Given the description of an element on the screen output the (x, y) to click on. 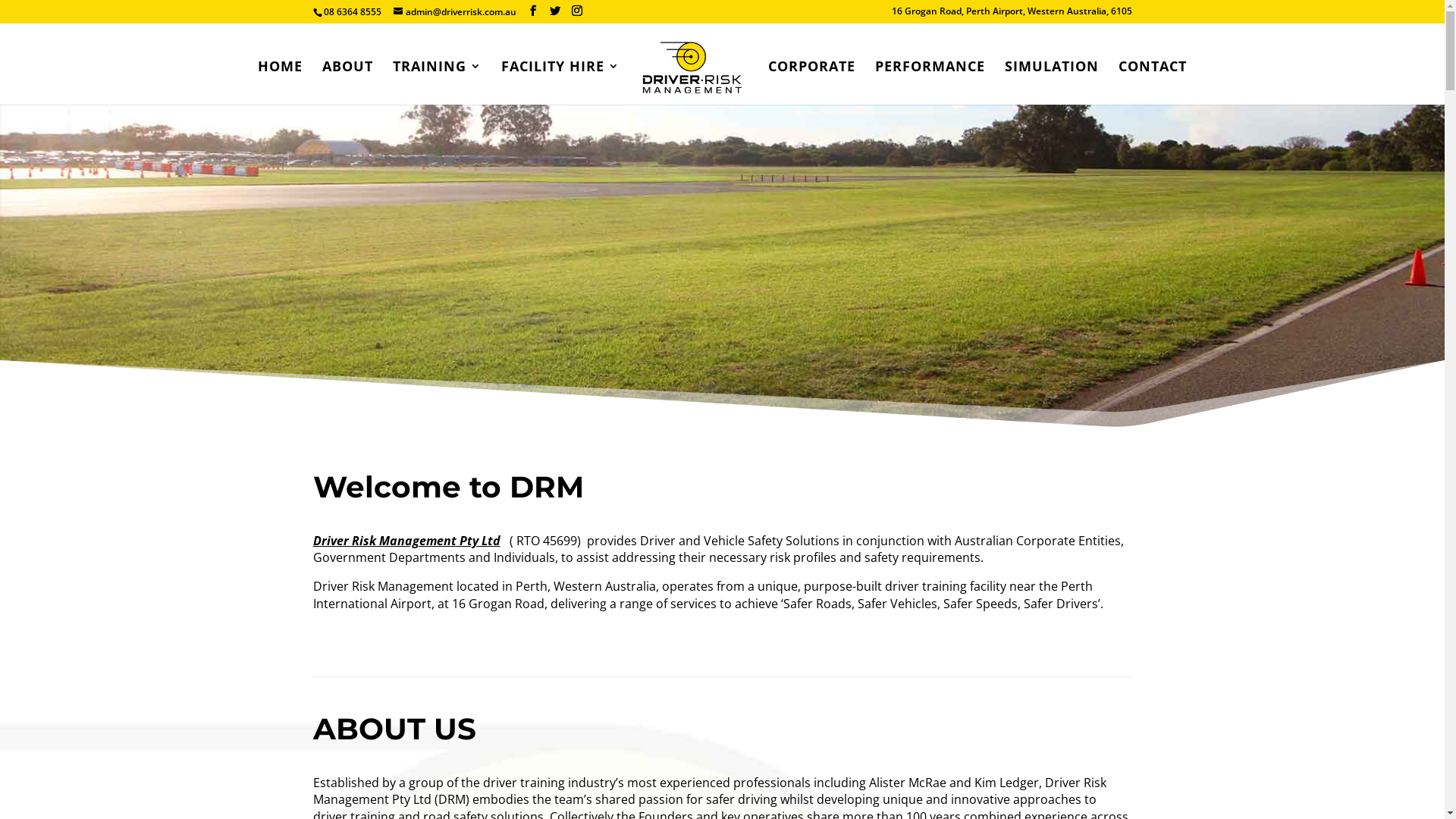
TRAINING Element type: text (436, 82)
PERFORMANCE Element type: text (930, 82)
ABOUT Element type: text (347, 82)
HOME Element type: text (279, 82)
admin@driverrisk.com.au Element type: text (453, 11)
16 Grogan Road, Perth Airport, Western Australia, 6105 Element type: text (1011, 14)
FACILITY HIRE Element type: text (560, 82)
CORPORATE Element type: text (811, 82)
CONTACT Element type: text (1152, 82)
SIMULATION Element type: text (1051, 82)
